Given the description of an element on the screen output the (x, y) to click on. 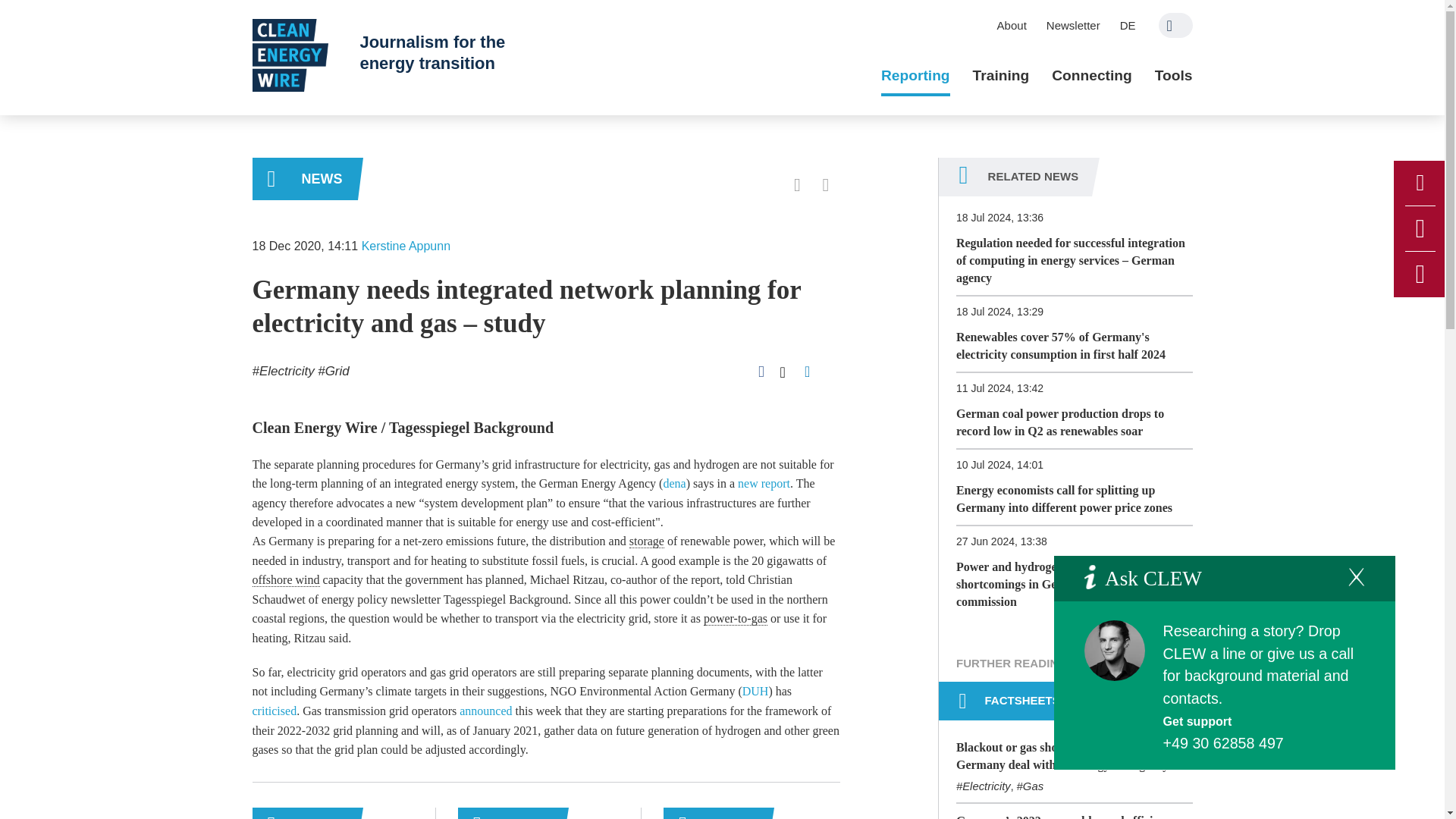
Newsletter (1072, 25)
Electricity (282, 370)
Search (1175, 25)
Reporting (915, 75)
Training (1000, 75)
Grid (333, 370)
DE (1127, 25)
dena (673, 482)
About (1011, 25)
Kerstine Appunn (405, 245)
Connecting (1091, 75)
Tools (1173, 75)
NEWS (303, 178)
